Given the description of an element on the screen output the (x, y) to click on. 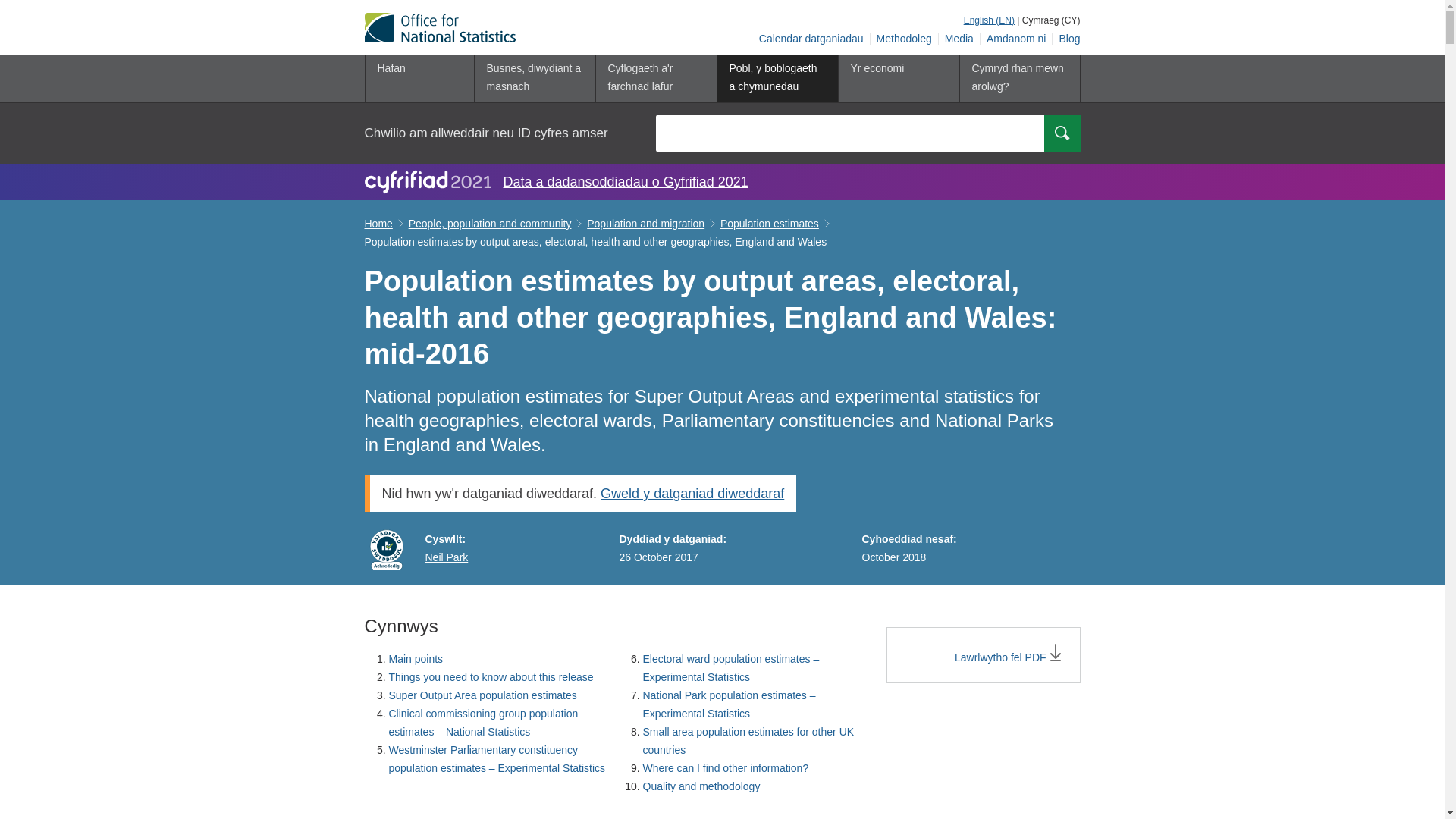
Media (959, 38)
Amdanom ni (1015, 38)
Cyfrifiad 2021 (427, 181)
Calendar datganiadau (811, 38)
Small area population estimates for other UK countries (748, 740)
Blog (1066, 38)
Quality and methodology (701, 786)
Methodoleg (904, 38)
Where can I find other information? (726, 767)
Super Output Area population estimates (482, 695)
Cyflogaeth a'r farchnad lafur (655, 78)
Hafan (418, 78)
Pobl, y boblogaeth a chymunedau (776, 78)
Main points (415, 658)
Things you need to know about this release (490, 676)
